Given the description of an element on the screen output the (x, y) to click on. 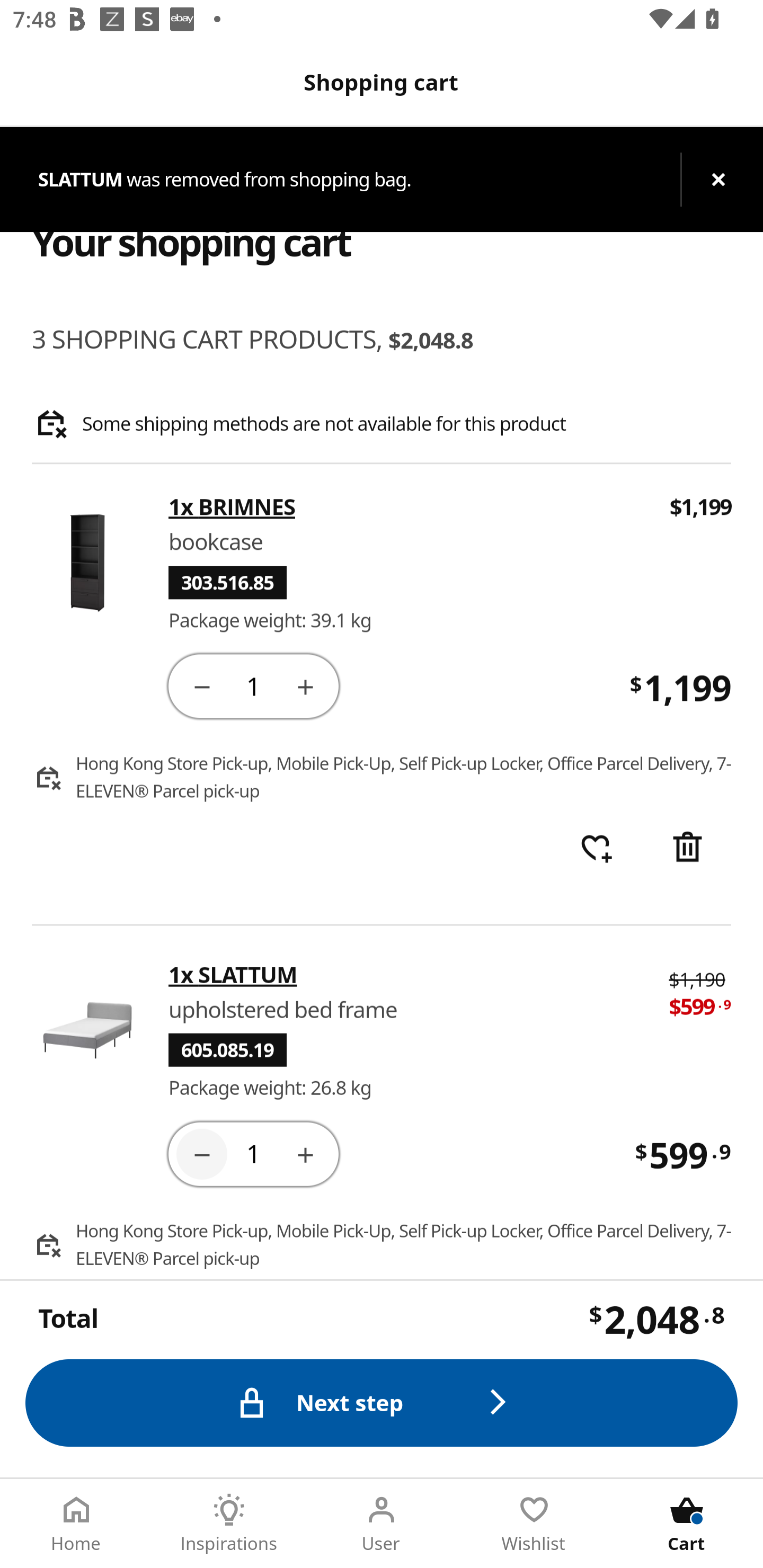
1x  BRIMNES 1x  BRIMNES (406, 507)
1 (253, 685)
 (201, 685)
 (305, 685)
  (595, 848)
 (686, 848)
1x  SLATTUM 1x  SLATTUM (405, 974)
1 (253, 1153)
 (201, 1153)
 (305, 1153)
Home
Tab 1 of 5 (76, 1522)
Inspirations
Tab 2 of 5 (228, 1522)
User
Tab 3 of 5 (381, 1522)
Wishlist
Tab 4 of 5 (533, 1522)
Cart
Tab 5 of 5 (686, 1522)
